Given the description of an element on the screen output the (x, y) to click on. 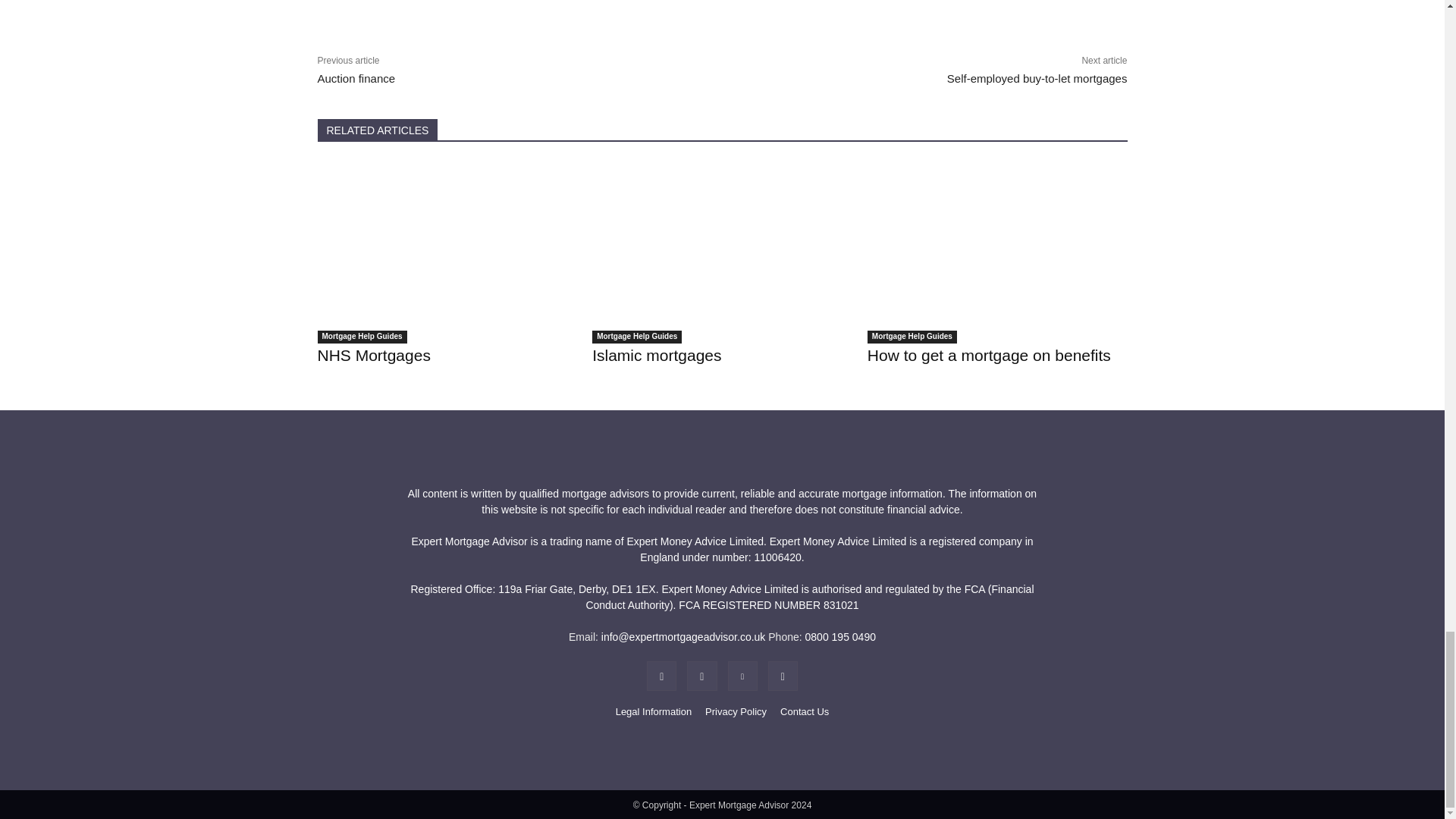
Islamic mortgages (656, 354)
Islamic mortgages (721, 252)
NHS Mortgages (373, 354)
NHS Mortgages (446, 252)
